Given the description of an element on the screen output the (x, y) to click on. 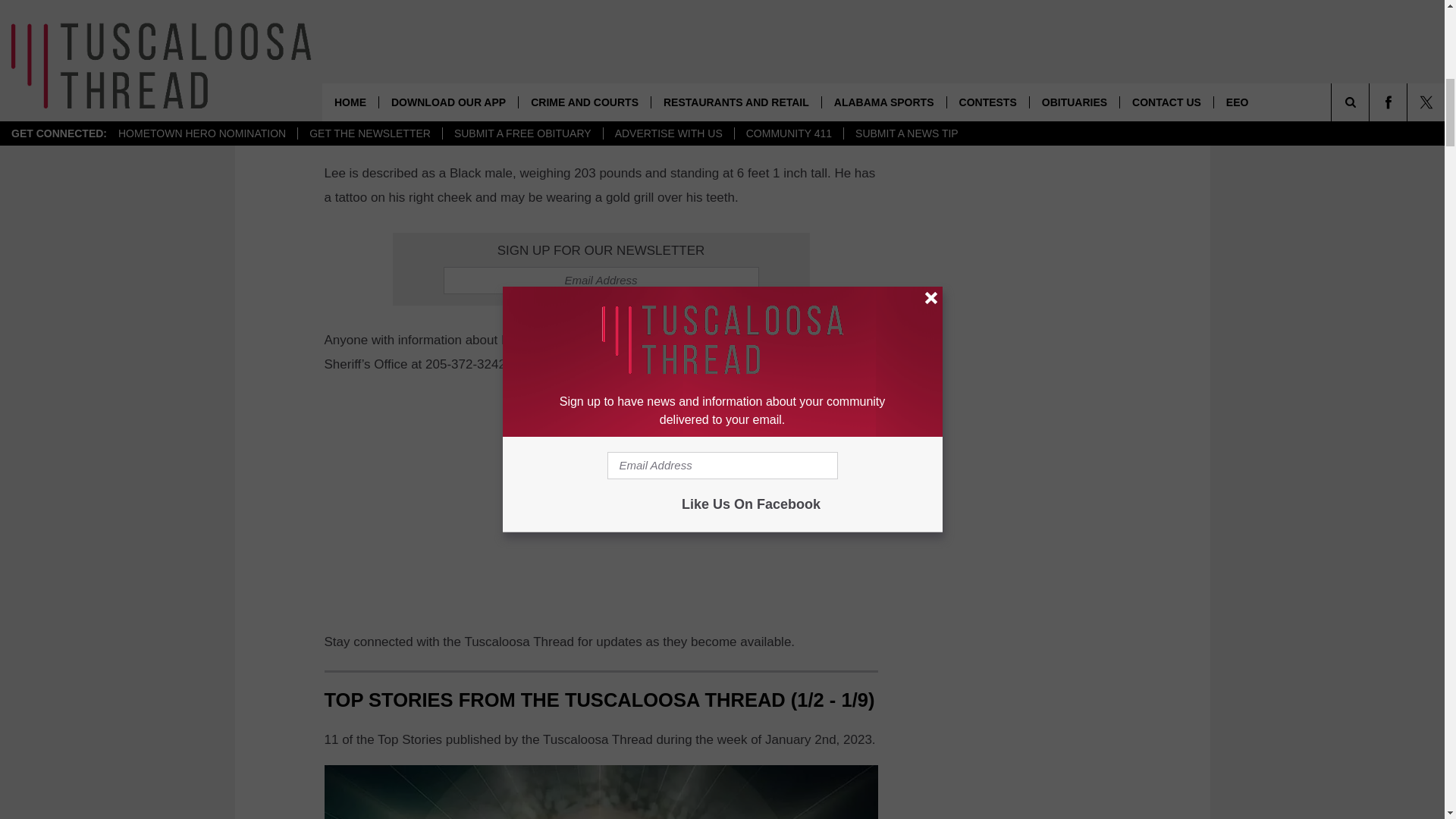
Email Address (600, 280)
